Given the description of an element on the screen output the (x, y) to click on. 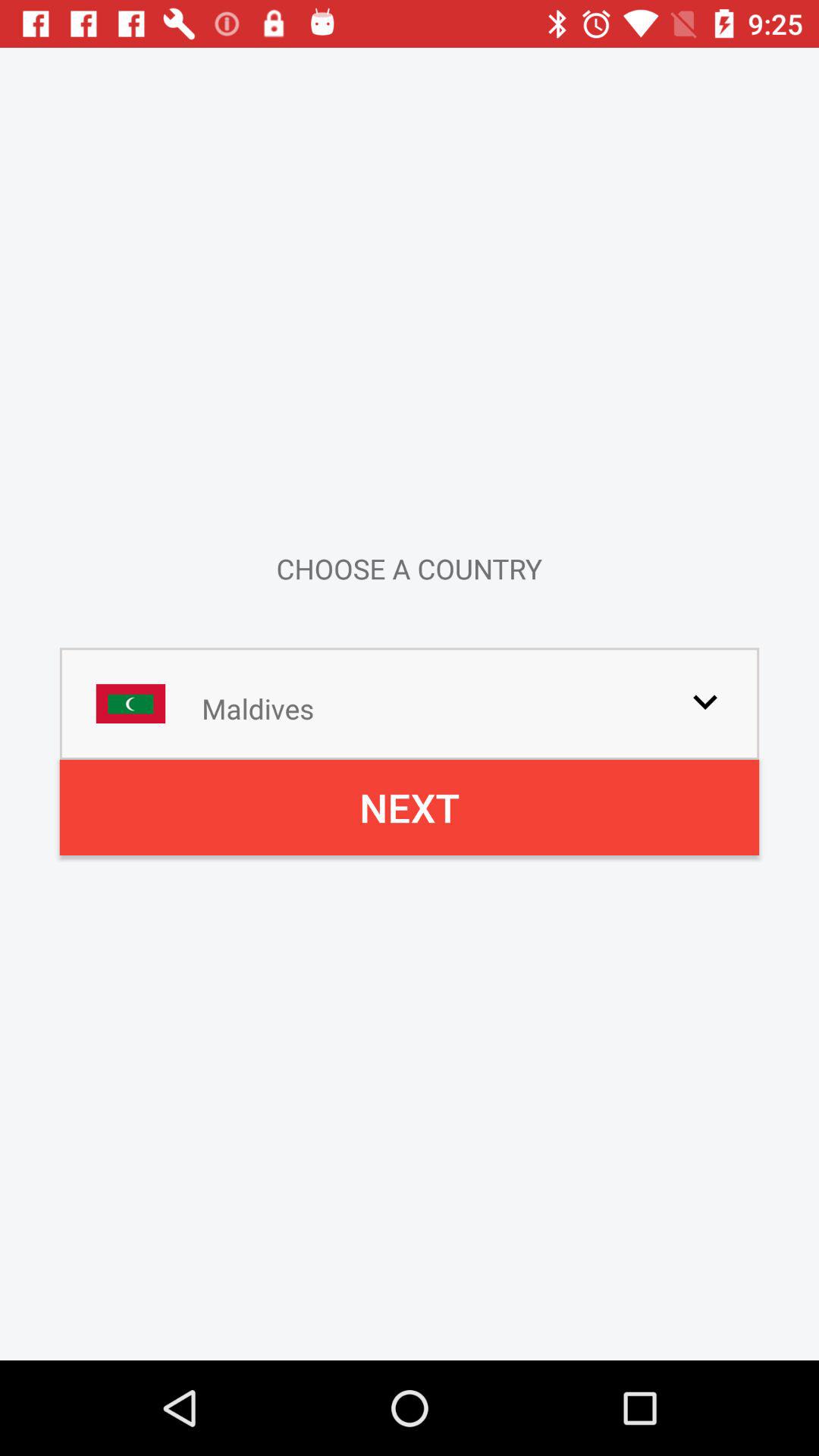
toggle drop down menu (705, 701)
